Given the description of an element on the screen output the (x, y) to click on. 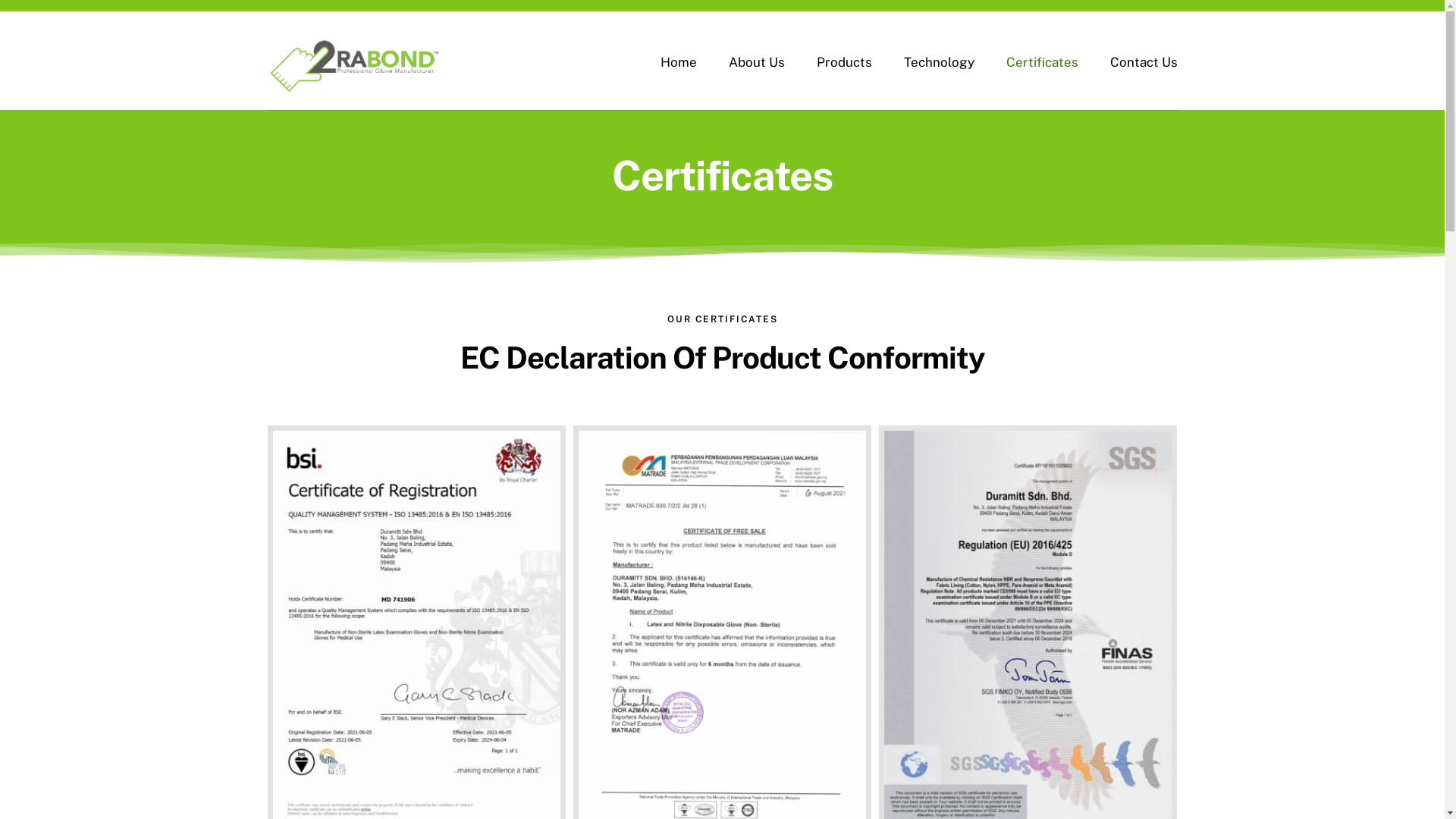
Contact Us Element type: text (1143, 62)
Certificates Element type: text (1042, 62)
Home Element type: text (678, 62)
About Us Element type: text (756, 62)
Technology Element type: text (938, 62)
Products Element type: text (844, 62)
